Given the description of an element on the screen output the (x, y) to click on. 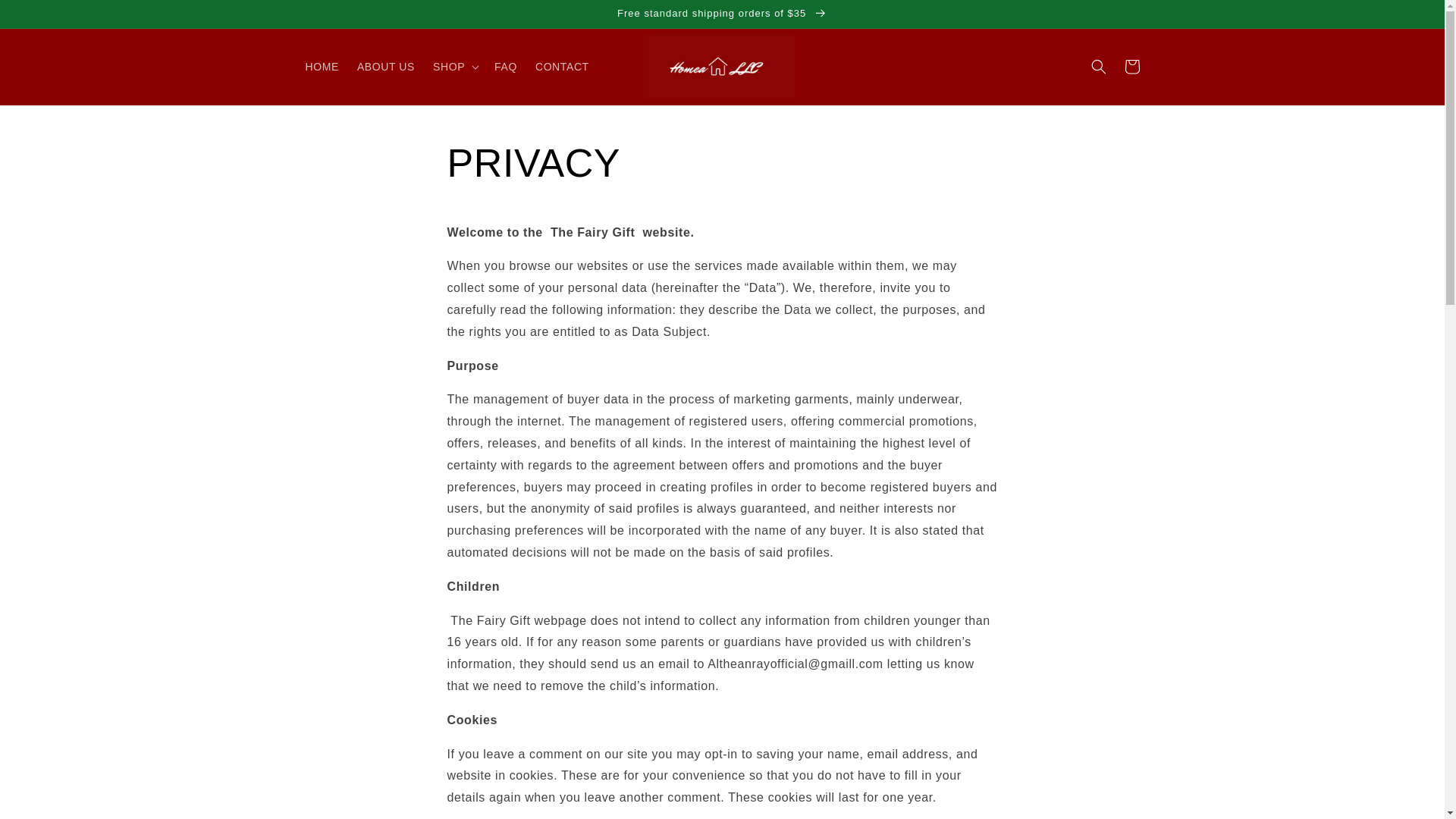
Cart (1131, 66)
HOME (321, 66)
FAQ (504, 66)
Skip to content (45, 17)
ABOUT US (385, 66)
CONTACT (561, 66)
